Given the description of an element on the screen output the (x, y) to click on. 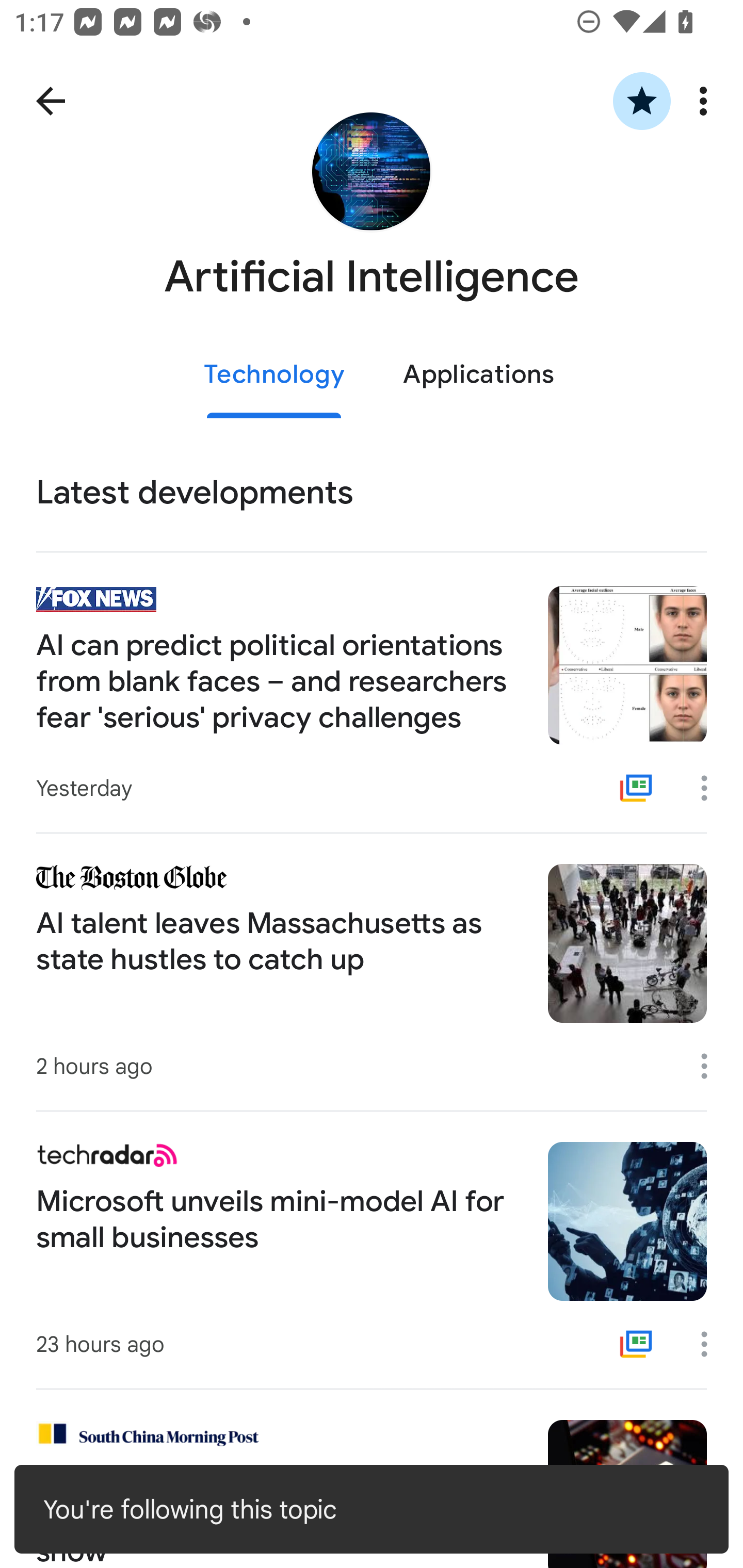
Navigate up (50, 101)
More options (706, 101)
Applications (478, 375)
Latest developments (371, 492)
More options (711, 787)
More options (711, 1066)
More options (711, 1344)
